Given the description of an element on the screen output the (x, y) to click on. 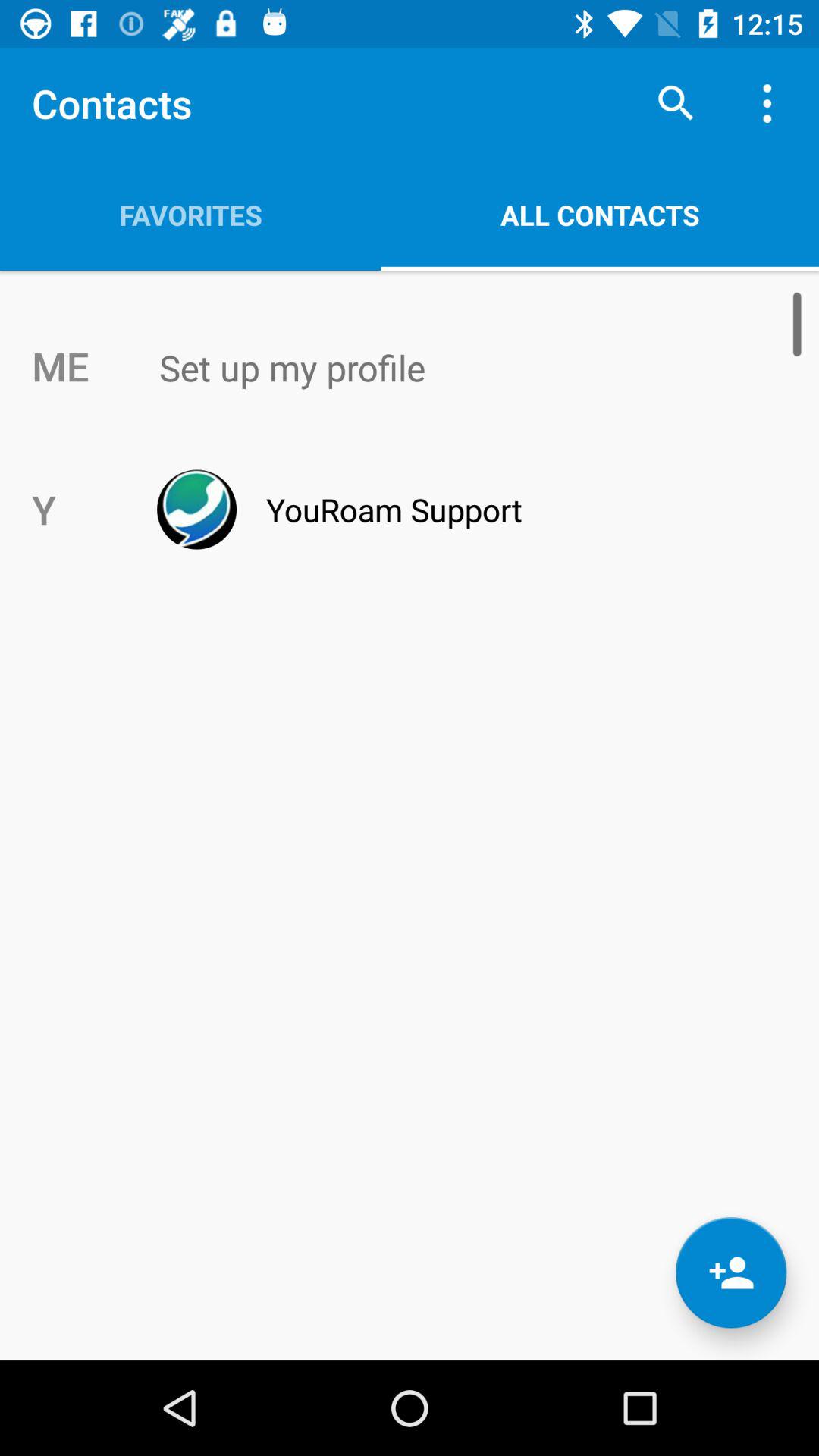
select favorites item (190, 214)
